Given the description of an element on the screen output the (x, y) to click on. 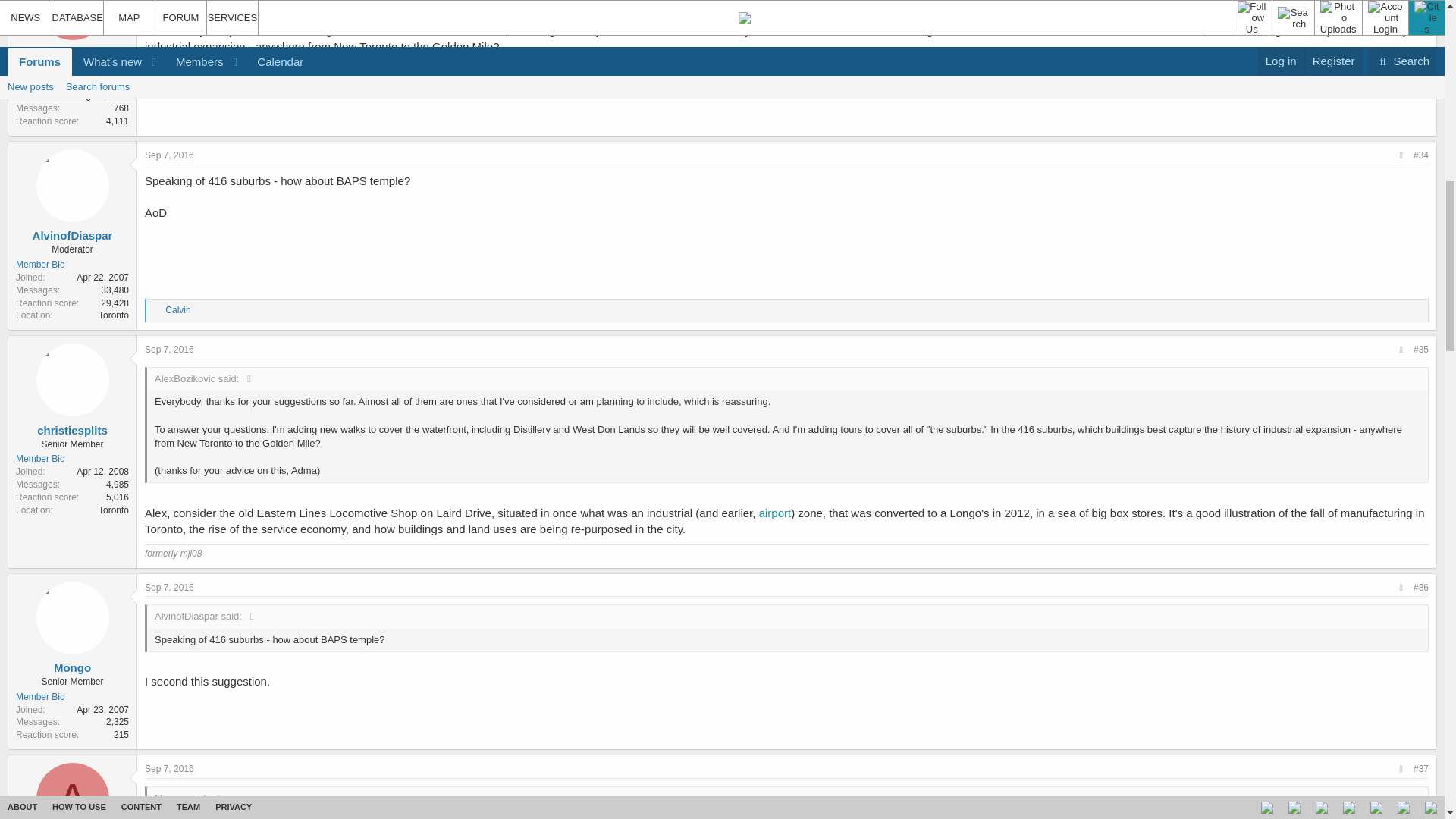
Like (157, 310)
Sep 7, 2016 at 12:56 PM (168, 768)
Sep 7, 2016 at 11:19 AM (168, 587)
Sep 7, 2016 at 10:30 AM (168, 154)
Sep 7, 2016 at 10:33 AM (168, 348)
